Given the description of an element on the screen output the (x, y) to click on. 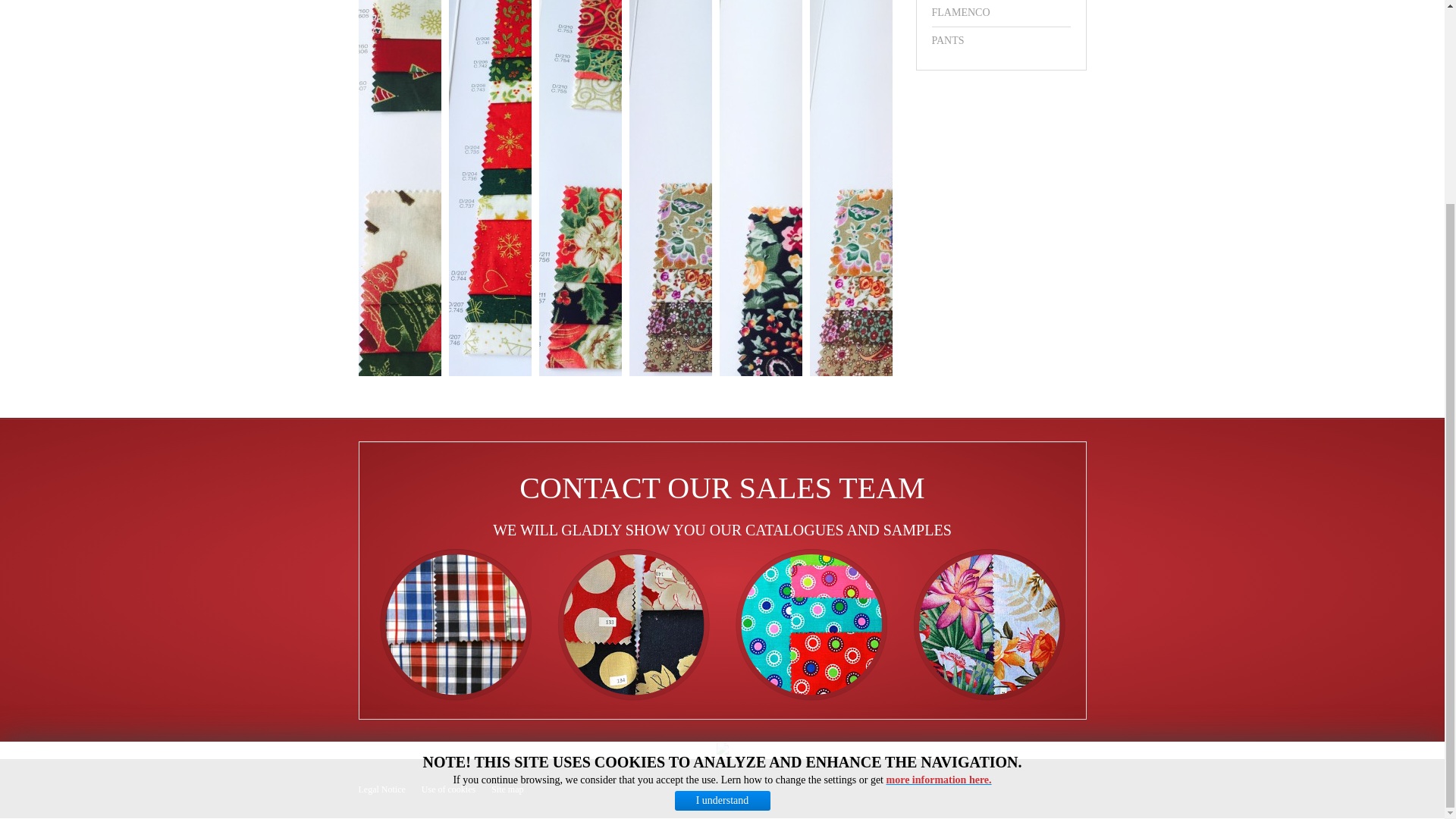
more information here. (938, 518)
Legal Notice (381, 789)
Use of cookies (449, 789)
FLAMENCO (1000, 13)
PANTS (1000, 40)
Site map (507, 789)
